Given the description of an element on the screen output the (x, y) to click on. 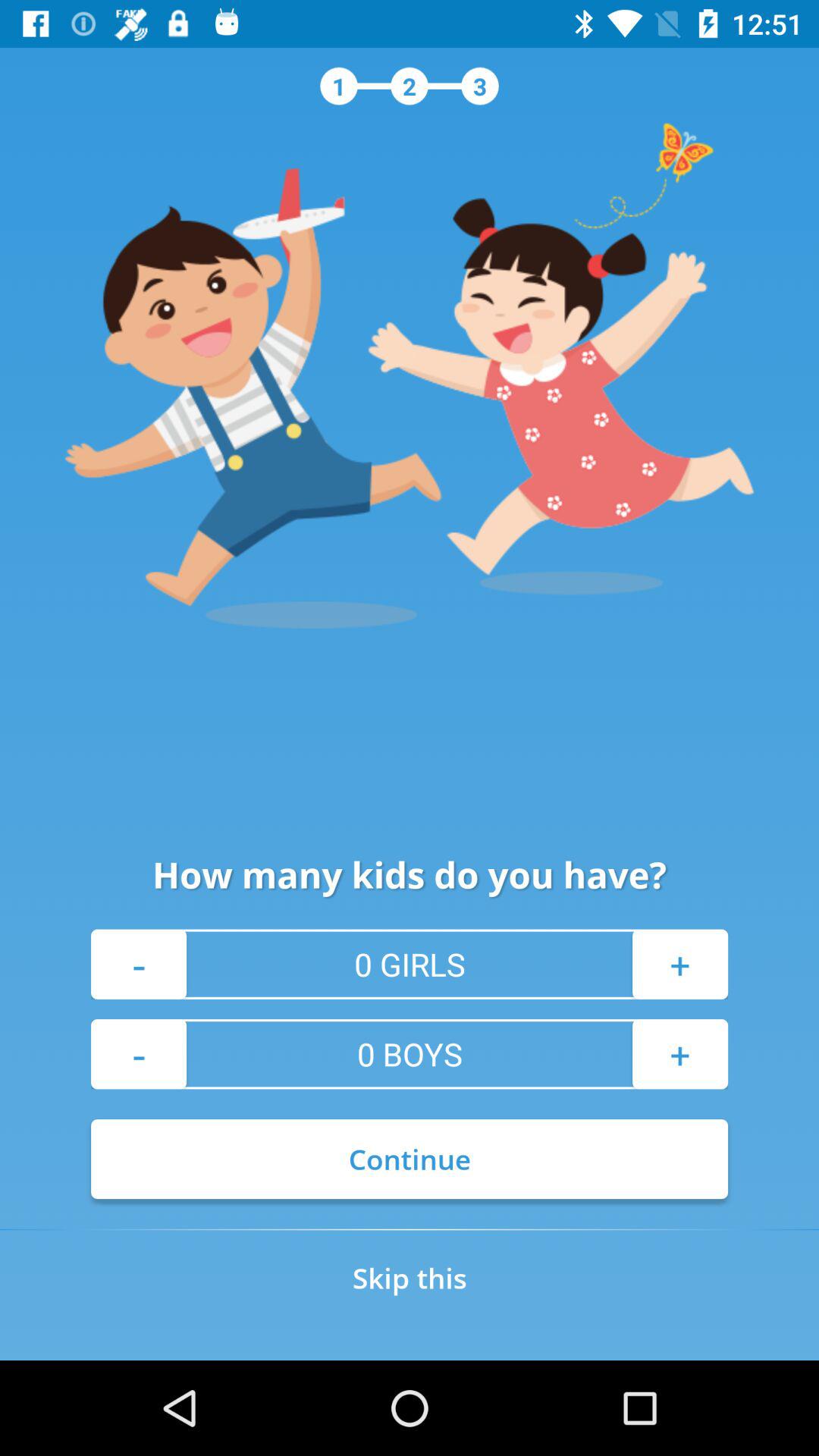
turn off icon below the how many kids icon (138, 964)
